Given the description of an element on the screen output the (x, y) to click on. 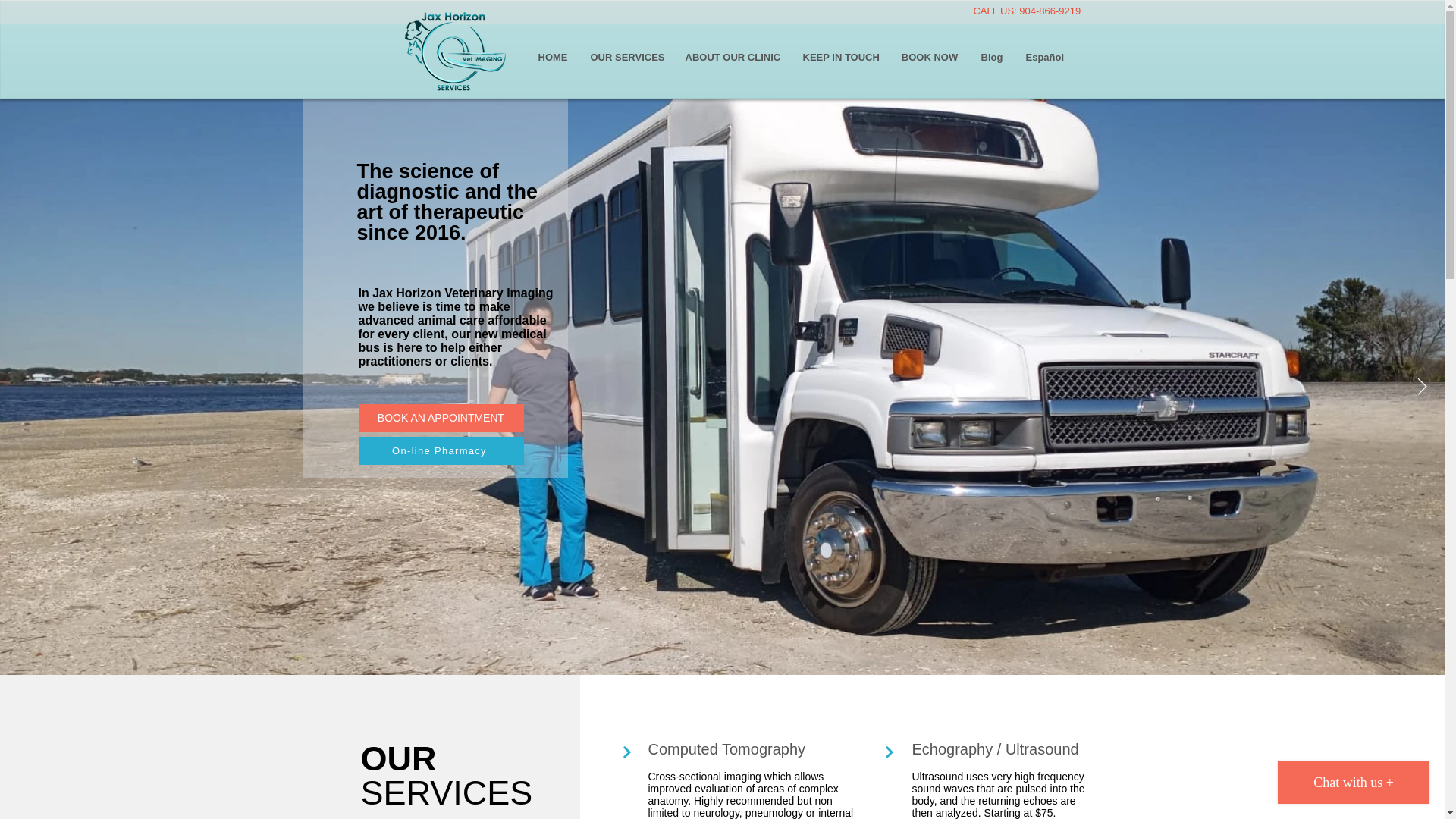
ABOUT OUR CLINIC (731, 57)
On-line Pharmacy (440, 450)
KEEP IN TOUCH (840, 57)
OUR SERVICES (626, 57)
BOOK AN APPOINTMENT (440, 418)
Blog (991, 57)
BOOK NOW (929, 57)
HOME (551, 57)
